Given the description of an element on the screen output the (x, y) to click on. 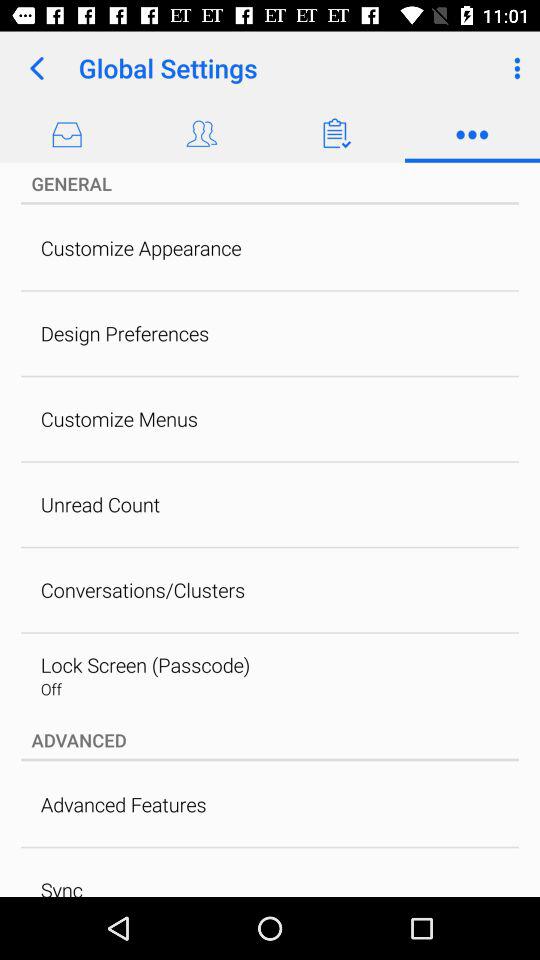
turn on customize appearance (140, 247)
